Given the description of an element on the screen output the (x, y) to click on. 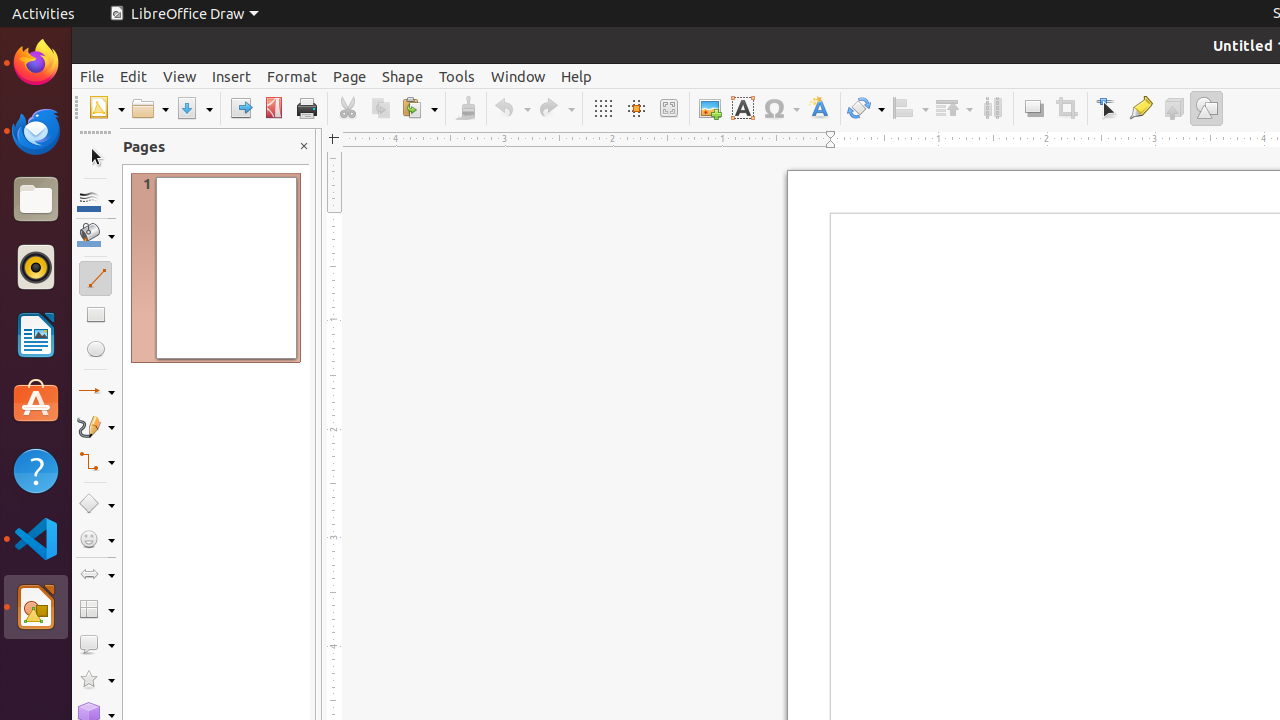
Files Element type: push-button (36, 199)
Paste Element type: push-button (419, 108)
Page Element type: menu (349, 76)
New Element type: push-button (106, 108)
Glue Points Element type: push-button (1140, 108)
